Given the description of an element on the screen output the (x, y) to click on. 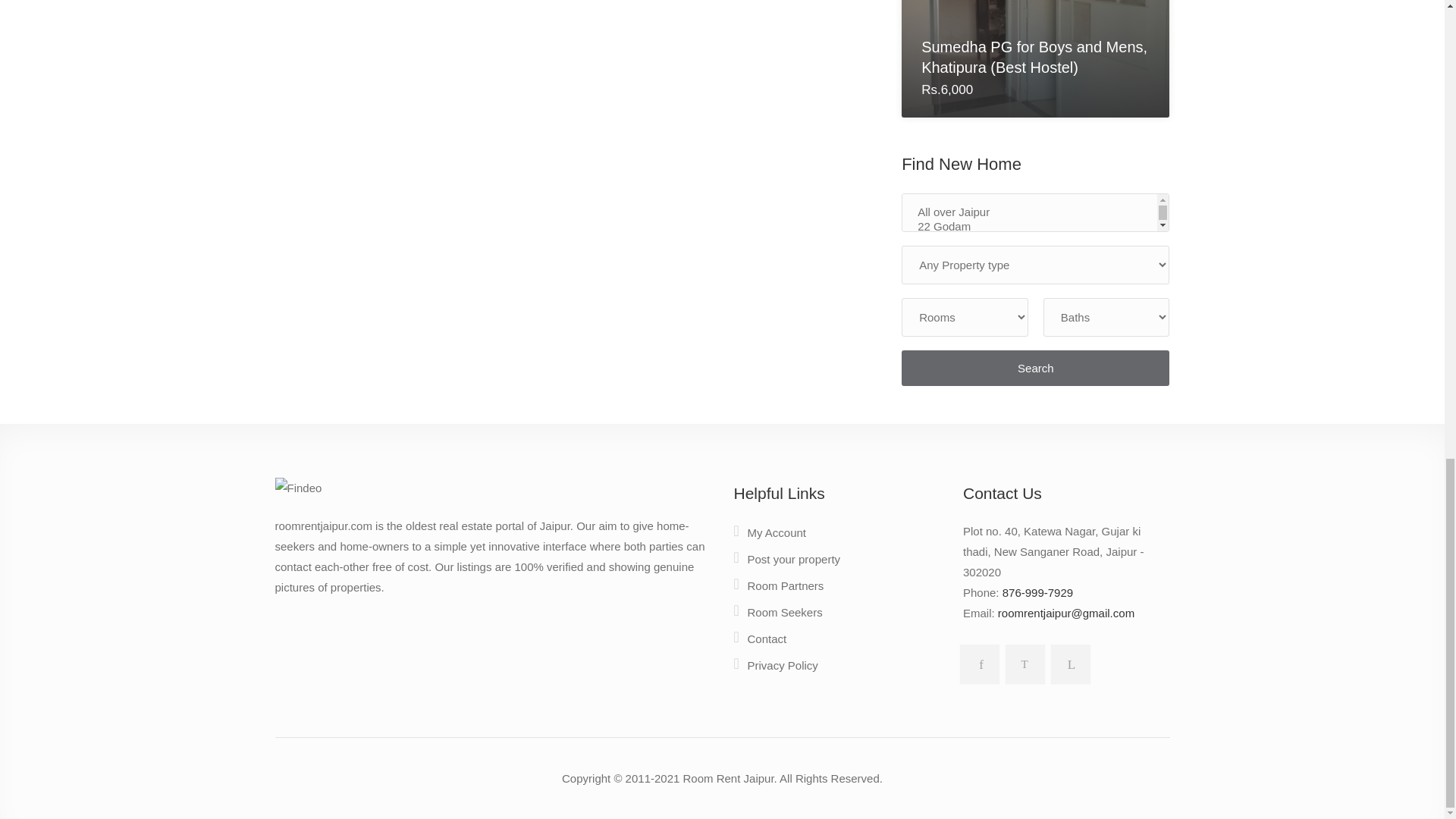
facebook (975, 661)
Search (1035, 367)
linkedin (1067, 661)
twitter (1022, 661)
